Given the description of an element on the screen output the (x, y) to click on. 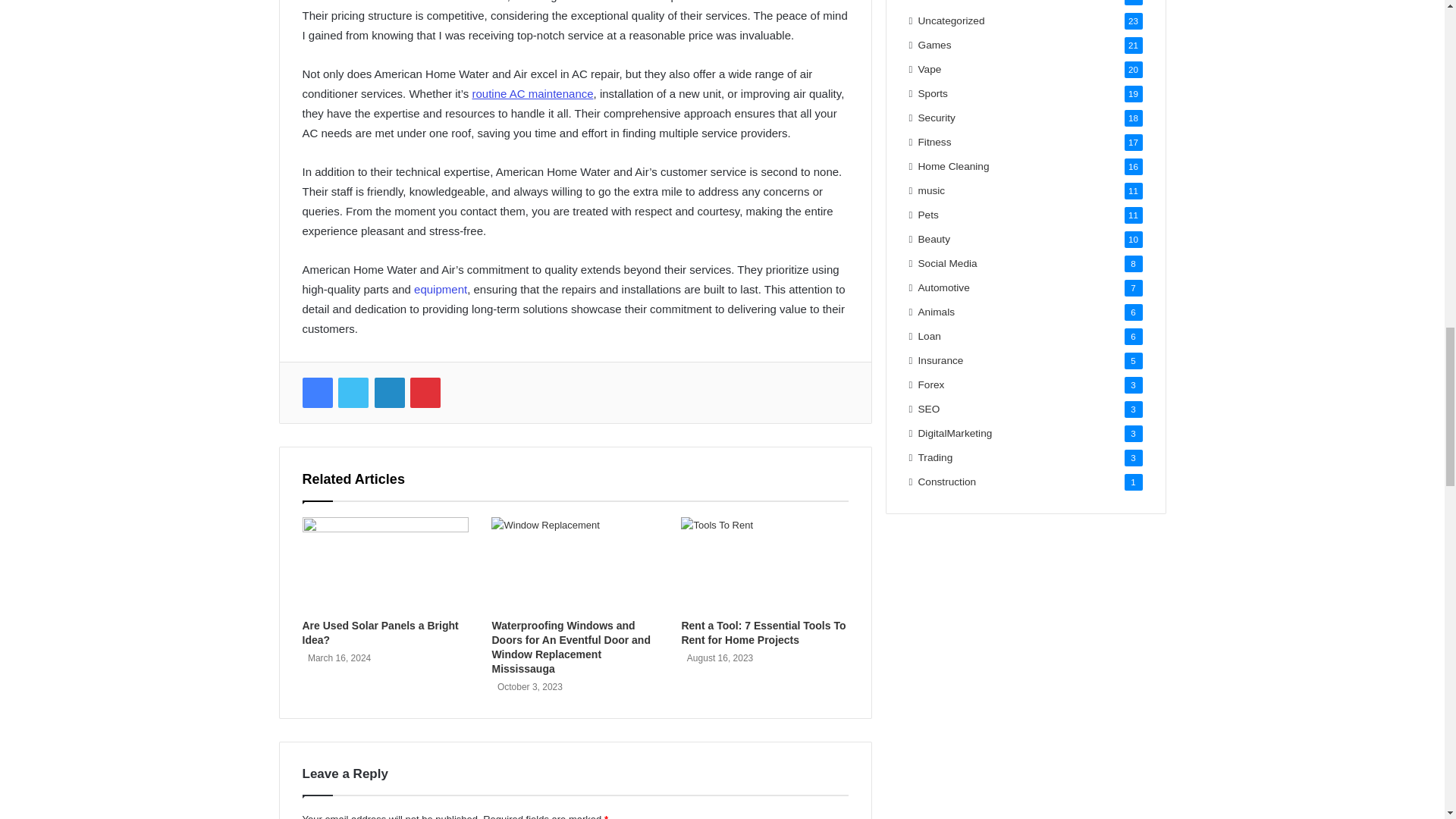
Facebook (316, 392)
Facebook (316, 392)
Rent a Tool: 7 Essential Tools To Rent for Home Projects (763, 632)
routine AC maintenance (531, 92)
Pinterest (425, 392)
Twitter (352, 392)
equipment (440, 288)
LinkedIn (389, 392)
Pinterest (425, 392)
Twitter (352, 392)
Are Used Solar Panels a Bright Idea? (379, 632)
LinkedIn (389, 392)
